Given the description of an element on the screen output the (x, y) to click on. 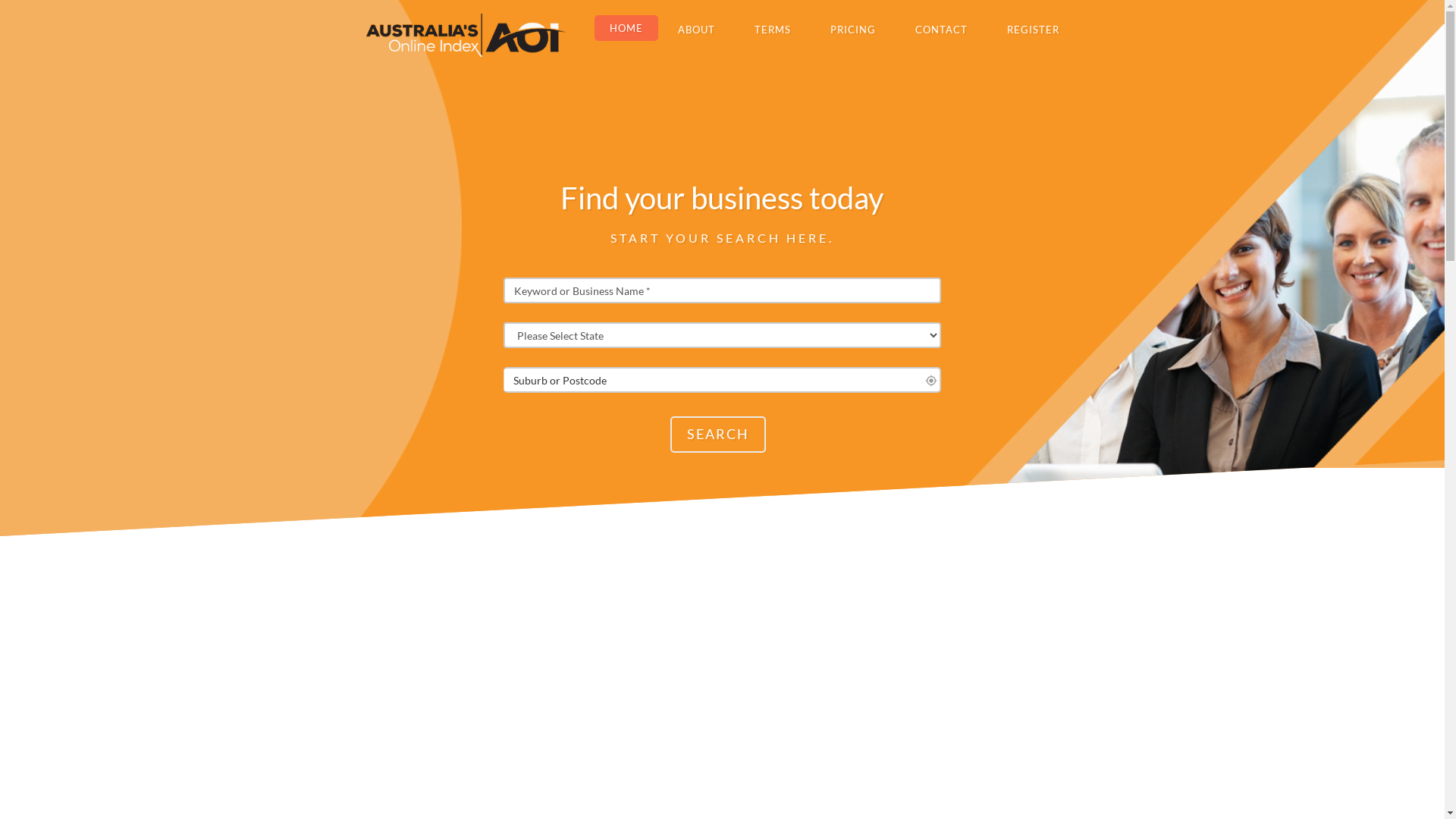
Search Element type: text (717, 434)
TERMS Element type: text (771, 29)
HOME Element type: text (626, 27)
PRICING Element type: text (851, 29)
CONTACT Element type: text (940, 29)
ABOUT Element type: text (696, 29)
REGISTER Element type: text (1033, 29)
